Given the description of an element on the screen output the (x, y) to click on. 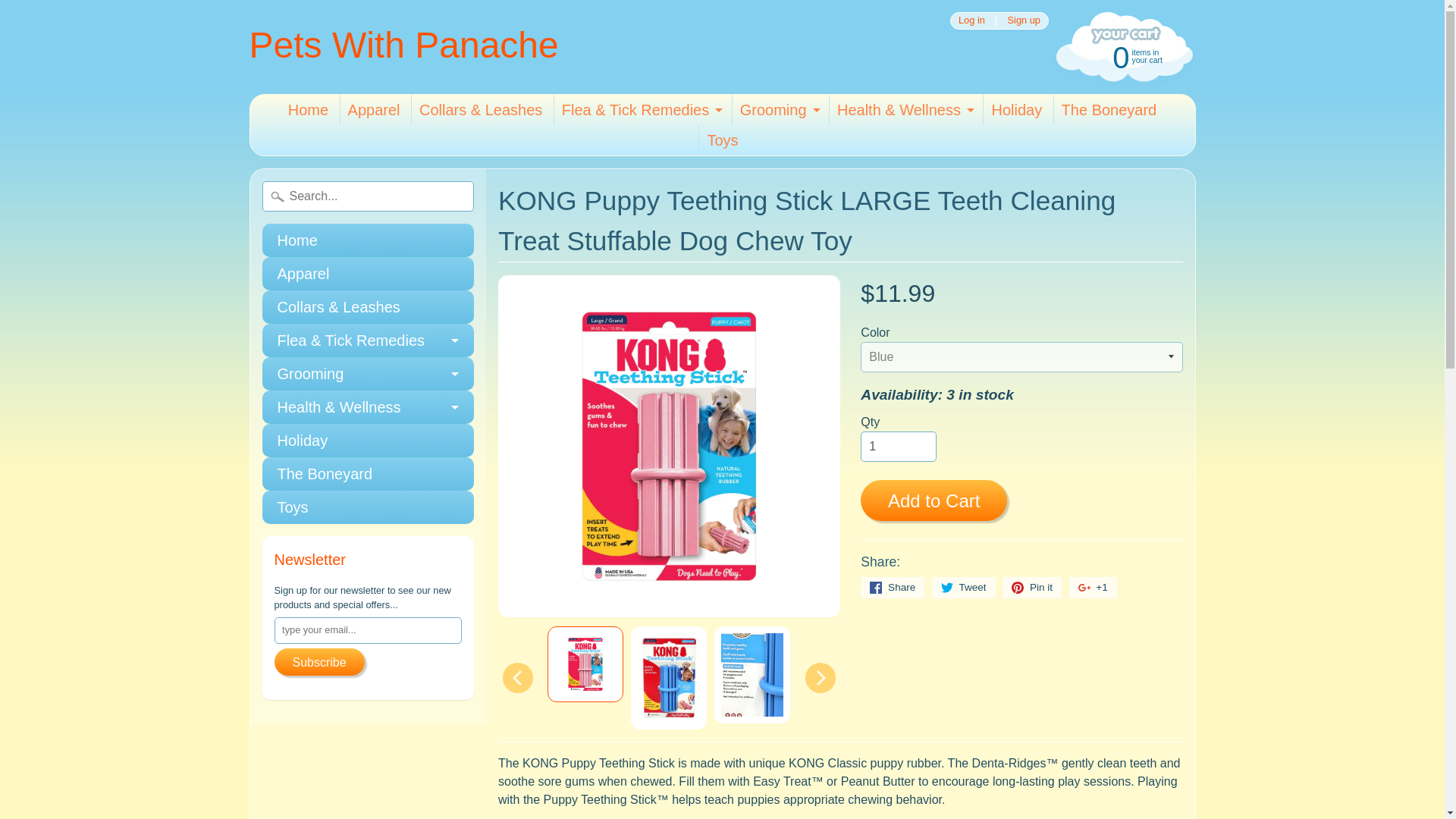
Home (368, 240)
Share on Facebook (892, 587)
The Boneyard (1109, 110)
Sign up (1024, 20)
Toys (721, 140)
Pets With Panache (402, 45)
Apparel (1122, 56)
Apparel (373, 110)
Pin on Pinterest (368, 273)
Holiday (1032, 587)
Log in (1016, 110)
Pets With Panache (970, 20)
Home (402, 45)
